Given the description of an element on the screen output the (x, y) to click on. 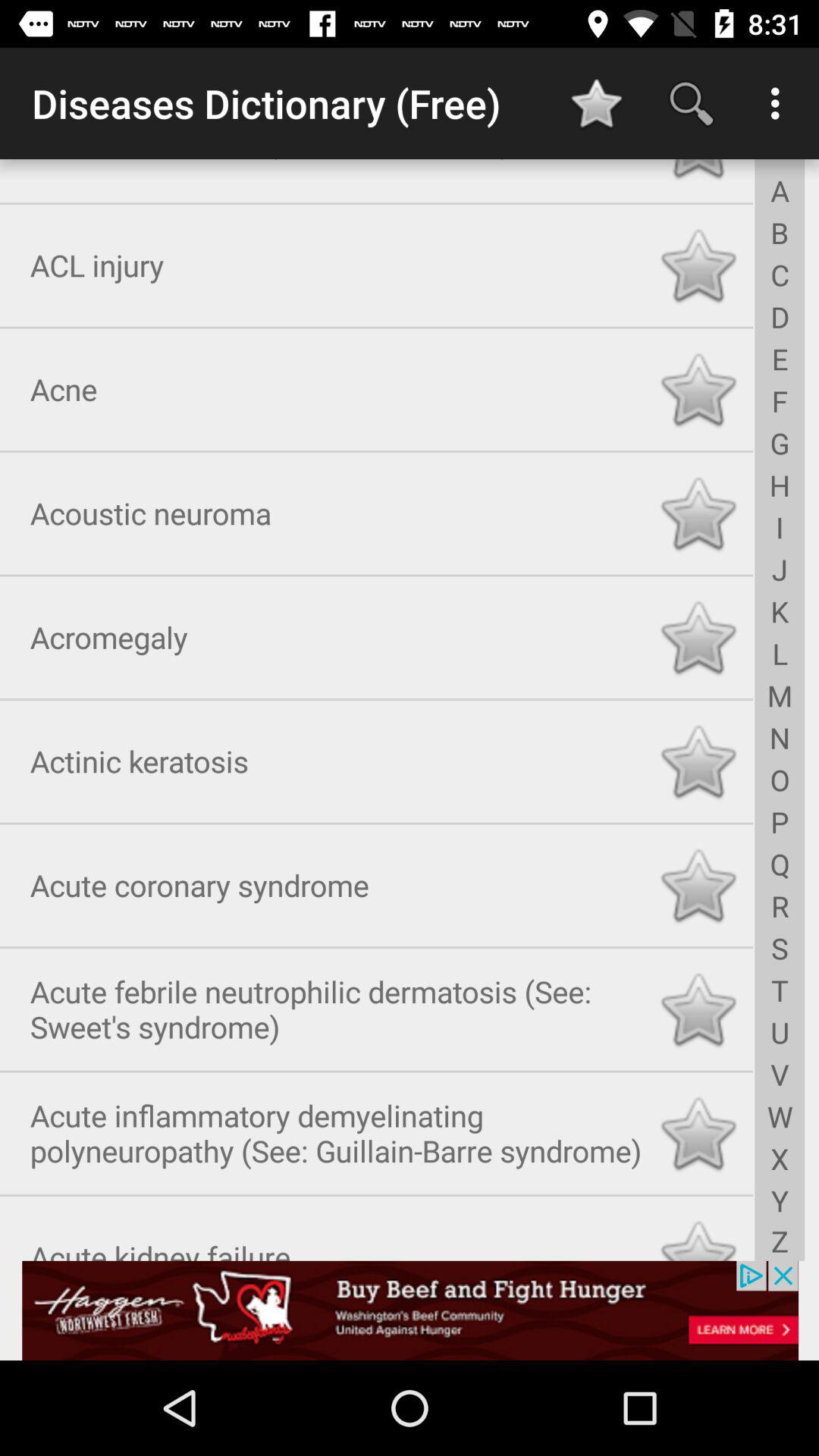
go back (697, 171)
